Given the description of an element on the screen output the (x, y) to click on. 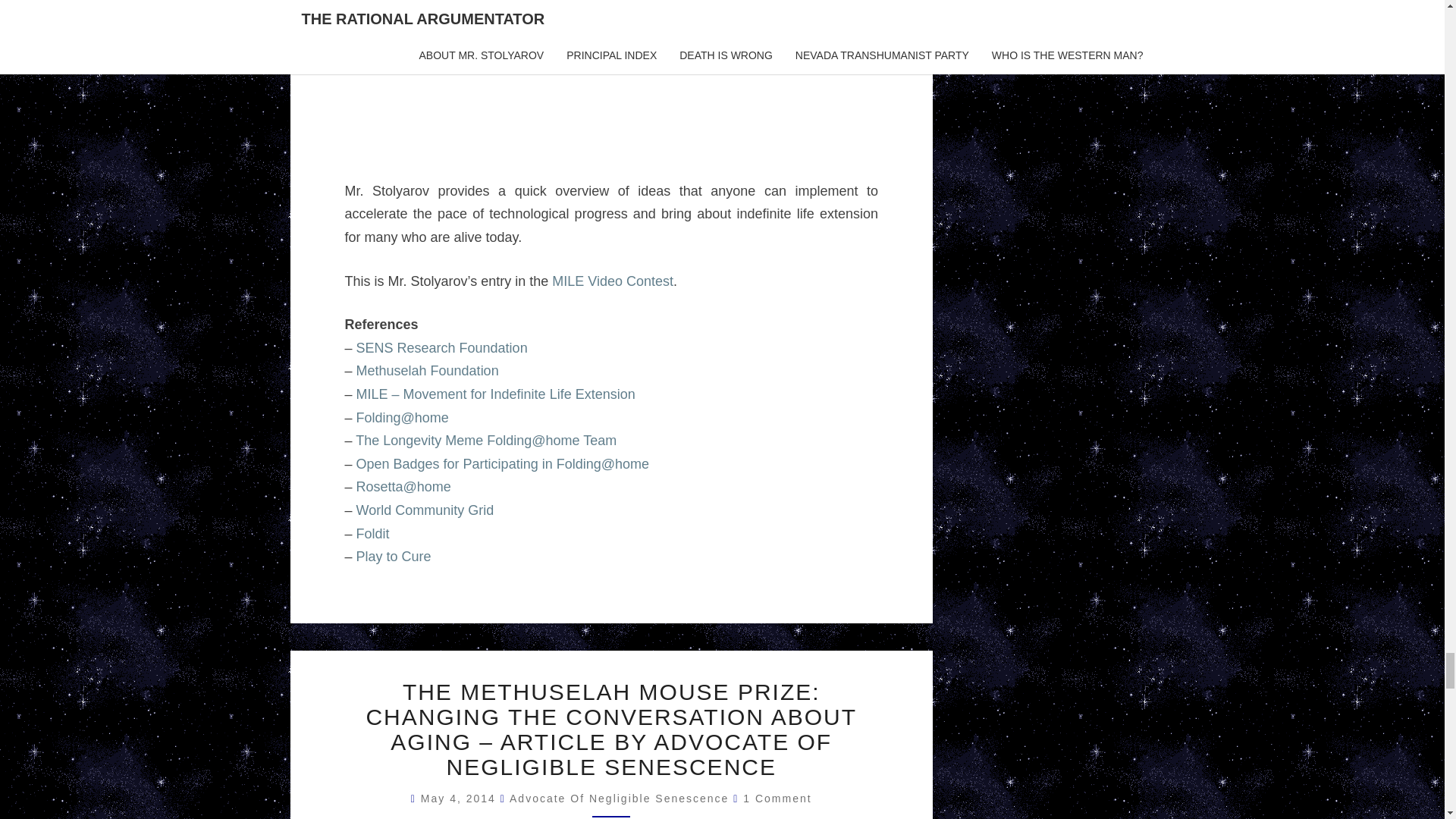
5:46 AM (460, 798)
View all posts by Advocate of Negligible Senescence (619, 798)
